Given the description of an element on the screen output the (x, y) to click on. 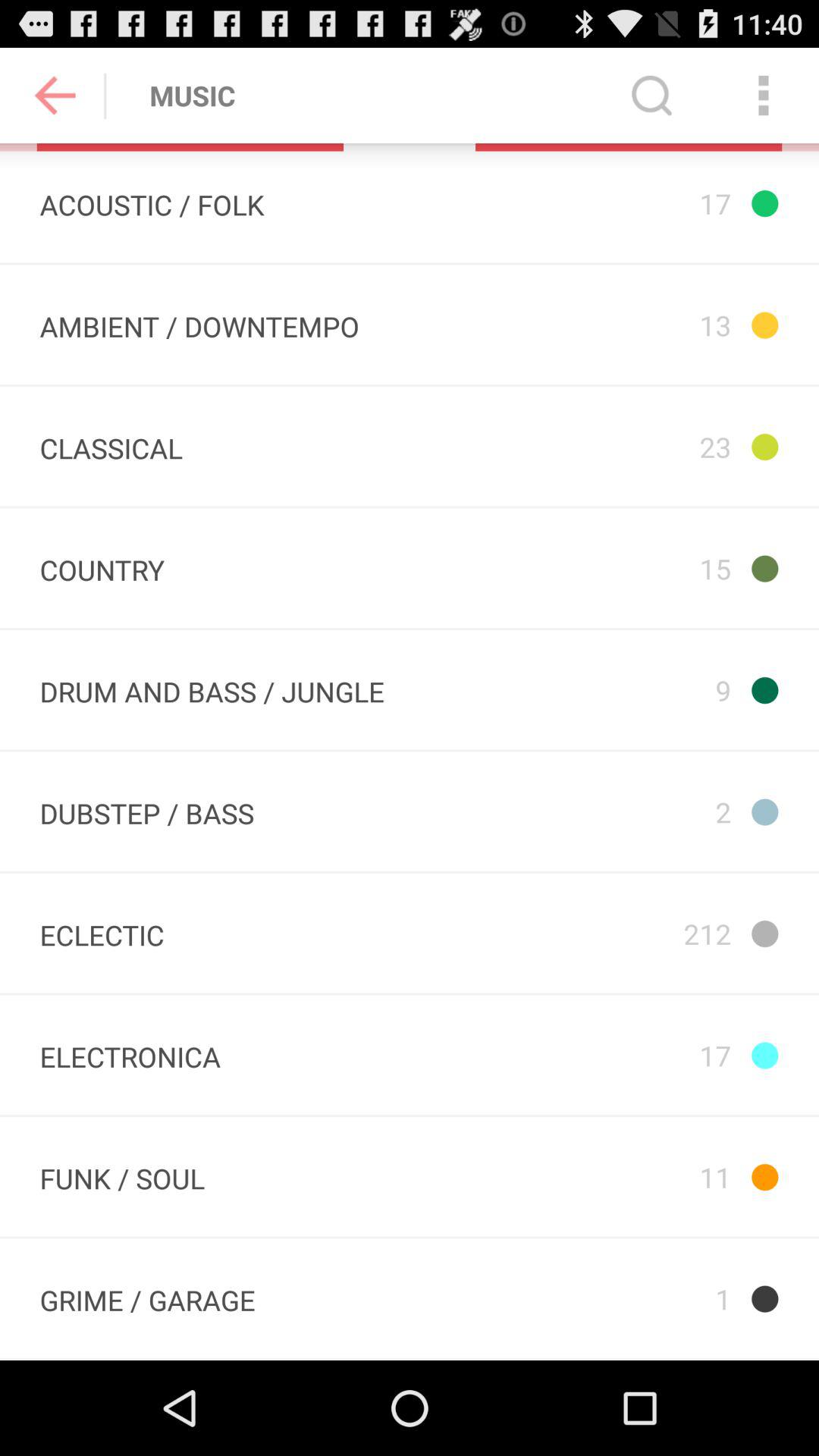
choose the icon below ambient / downtempo icon (111, 446)
